Given the description of an element on the screen output the (x, y) to click on. 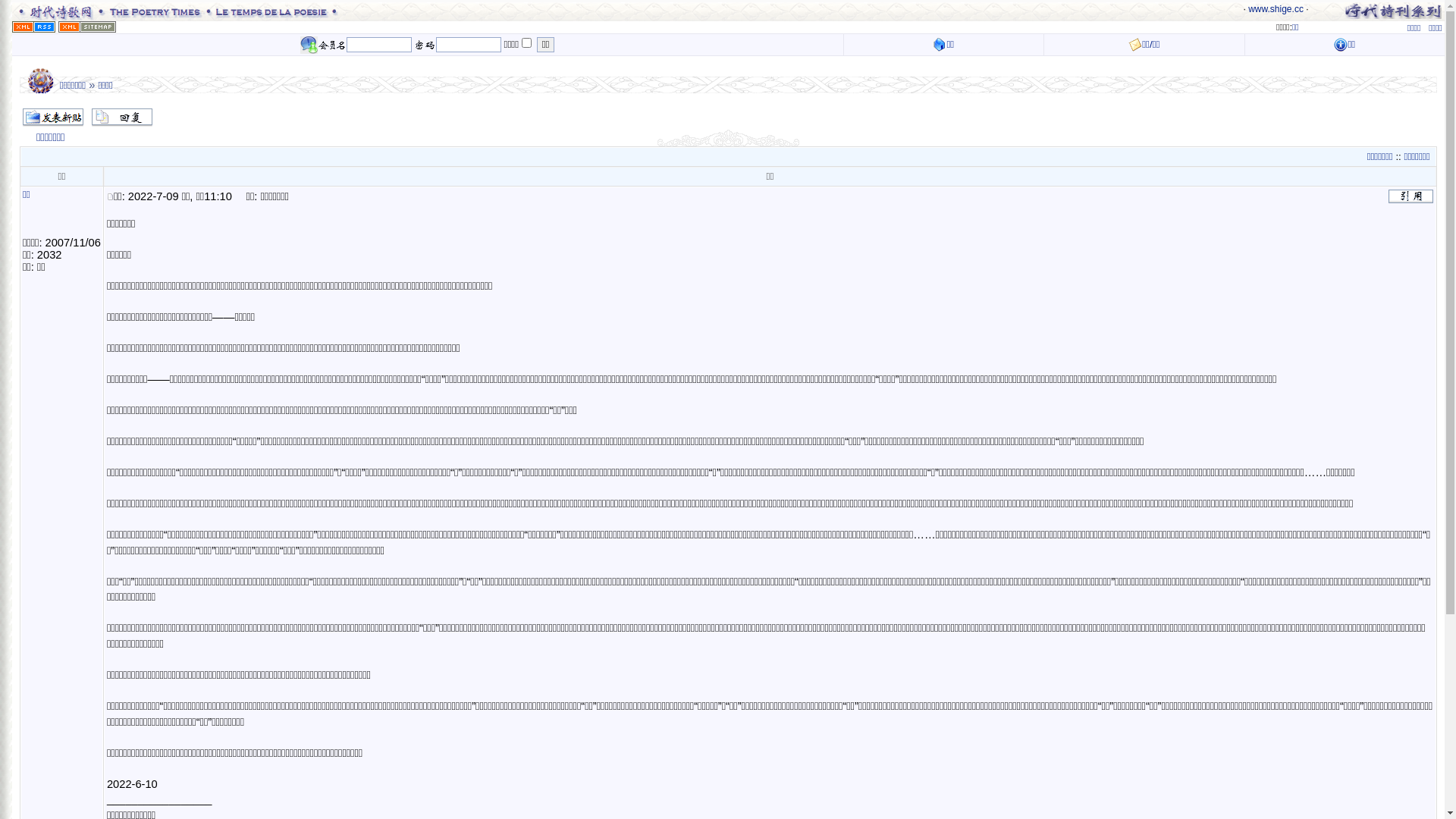
www.shige.cc Element type: text (1275, 8)
